Given the description of an element on the screen output the (x, y) to click on. 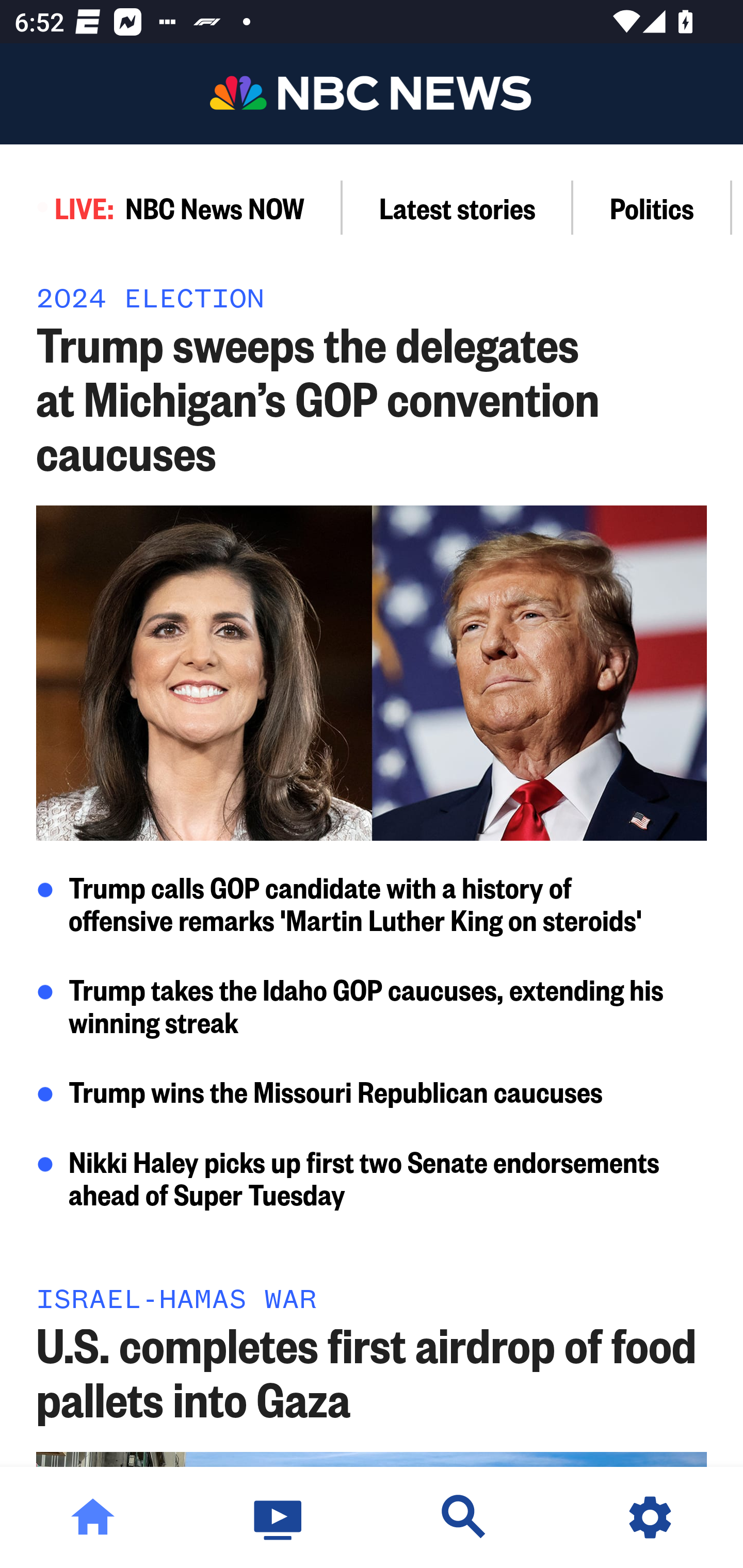
LIVE:  NBC News NOW (171, 207)
Latest stories Section,Latest stories (457, 207)
Politics Section,Politics (652, 207)
Watch (278, 1517)
Discover (464, 1517)
Settings (650, 1517)
